Given the description of an element on the screen output the (x, y) to click on. 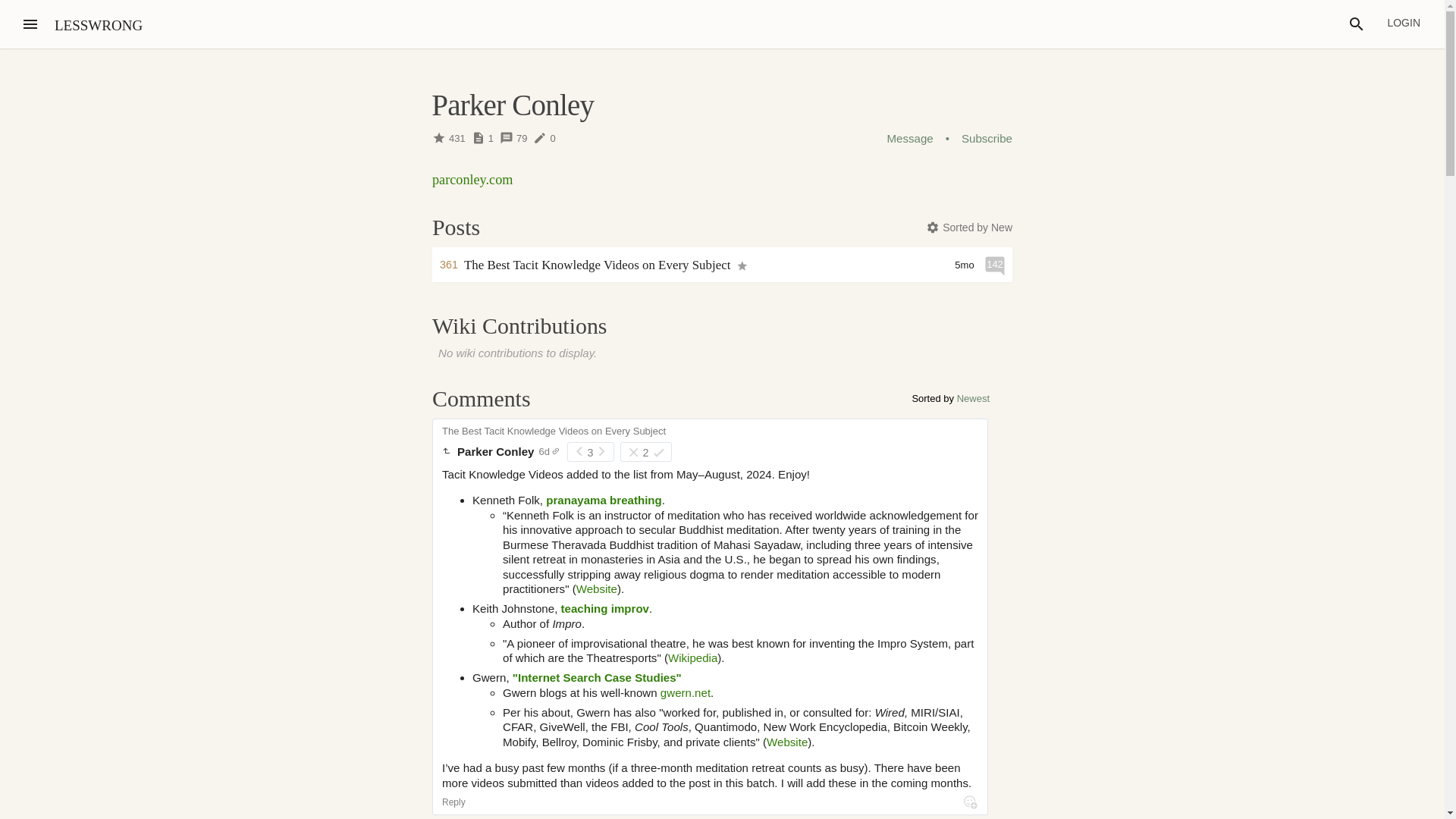
The Best Tacit Knowledge Videos on Every Subject (553, 427)
LESSWRONG (98, 25)
Website (596, 588)
Newest (973, 398)
 pranayama breathing (602, 499)
79 comments (515, 138)
Website (787, 741)
Message (909, 137)
Comments (481, 398)
Subscribe (985, 137)
